Given the description of an element on the screen output the (x, y) to click on. 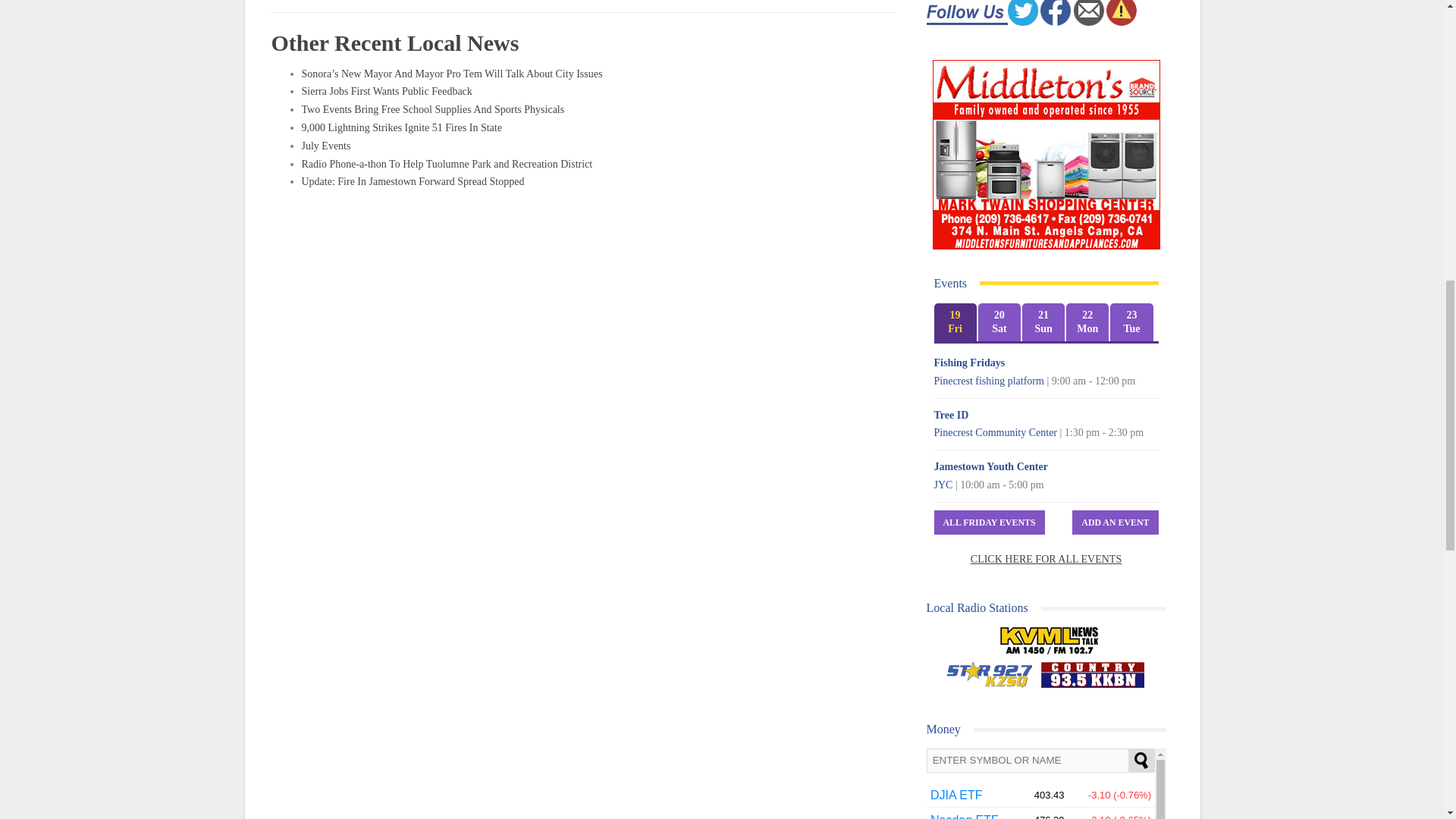
All Friday Events (989, 522)
Add An Event (1114, 522)
Middleton's Furniture and Appliance (1046, 154)
